Given the description of an element on the screen output the (x, y) to click on. 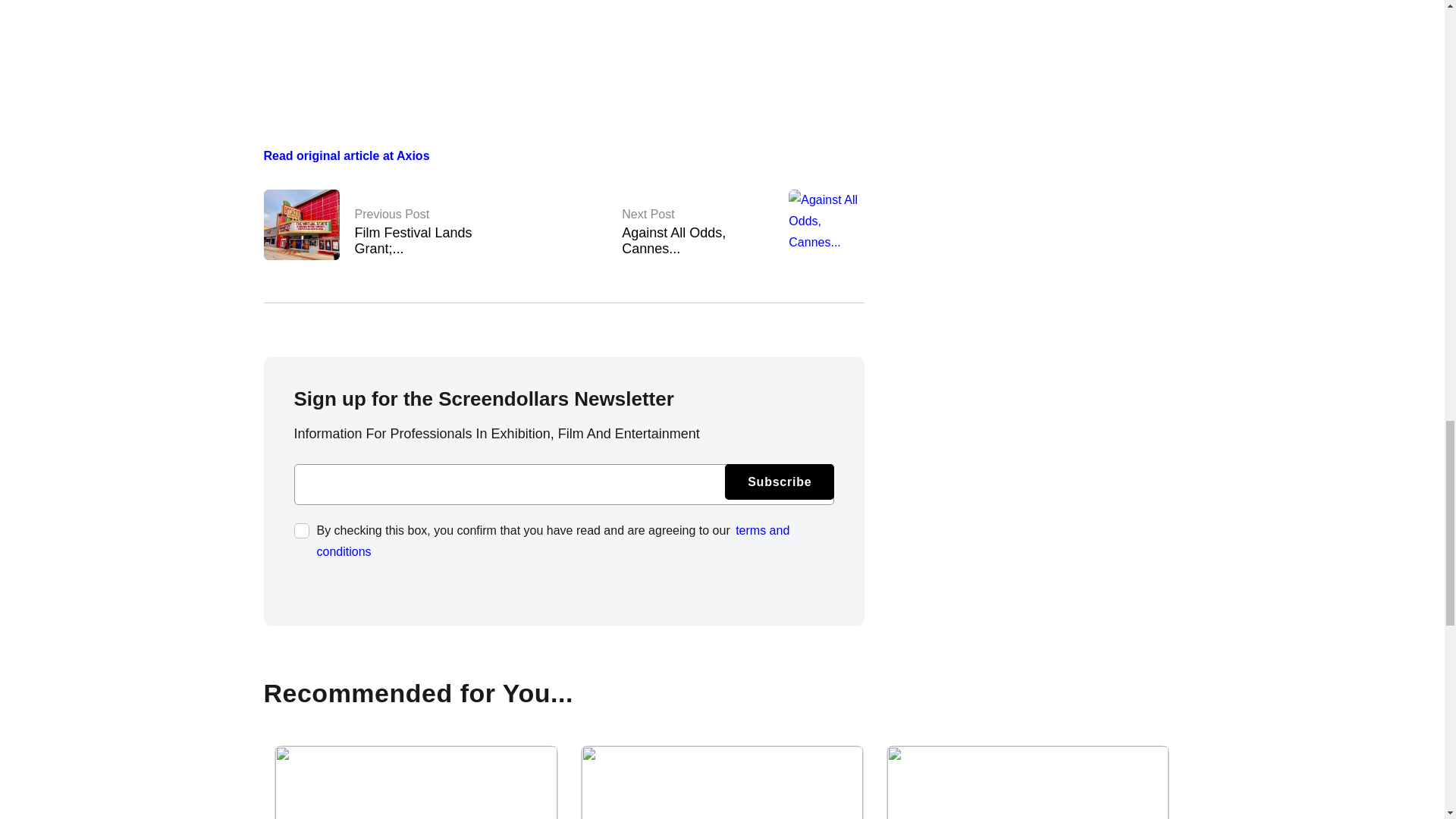
Read original article at Axios (346, 155)
terms and conditions (553, 540)
IATSE Members Vote to Ratify Major Contract Deals (430, 230)
Warner Bros Discovery Drafts Break-Up Plan (1027, 782)
Subscribe (721, 782)
